Given the description of an element on the screen output the (x, y) to click on. 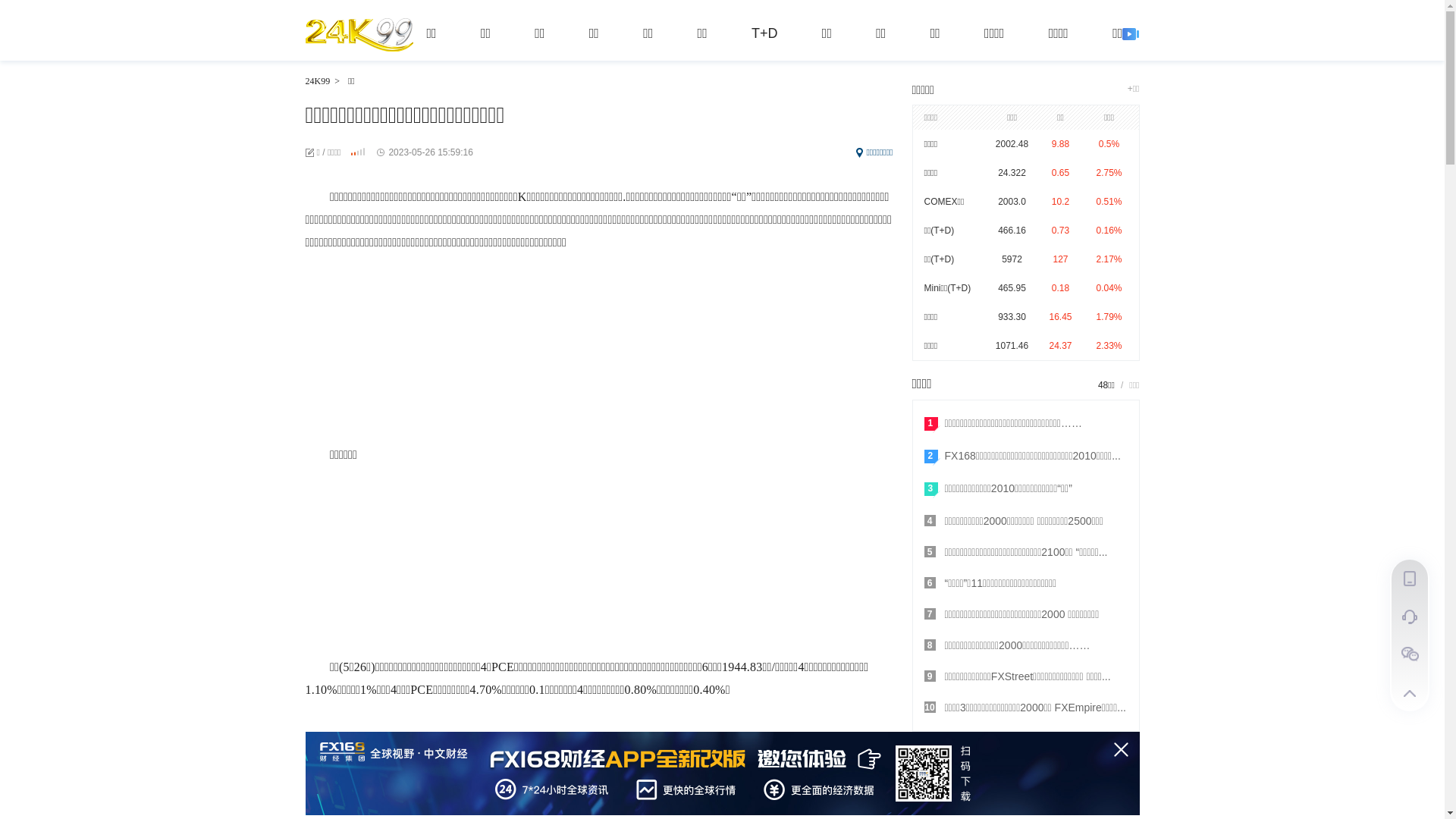
T+D Element type: text (764, 33)
24K99 Element type: hover (358, 37)
24K99 Element type: text (316, 80)
